Given the description of an element on the screen output the (x, y) to click on. 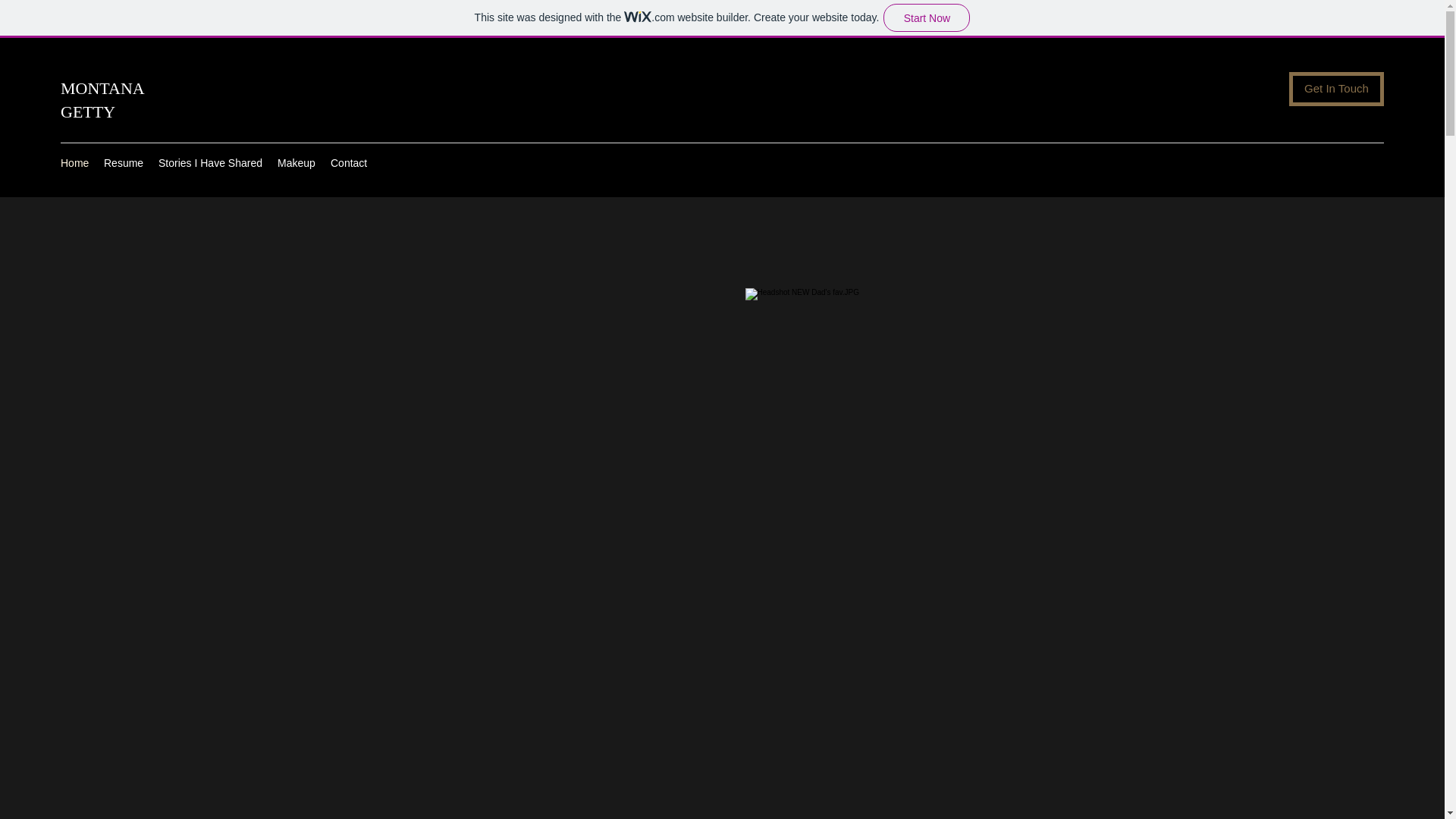
Makeup (296, 162)
Home (74, 162)
Stories I Have Shared (210, 162)
Get In Touch (1336, 89)
Contact (348, 162)
Resume (123, 162)
